Given the description of an element on the screen output the (x, y) to click on. 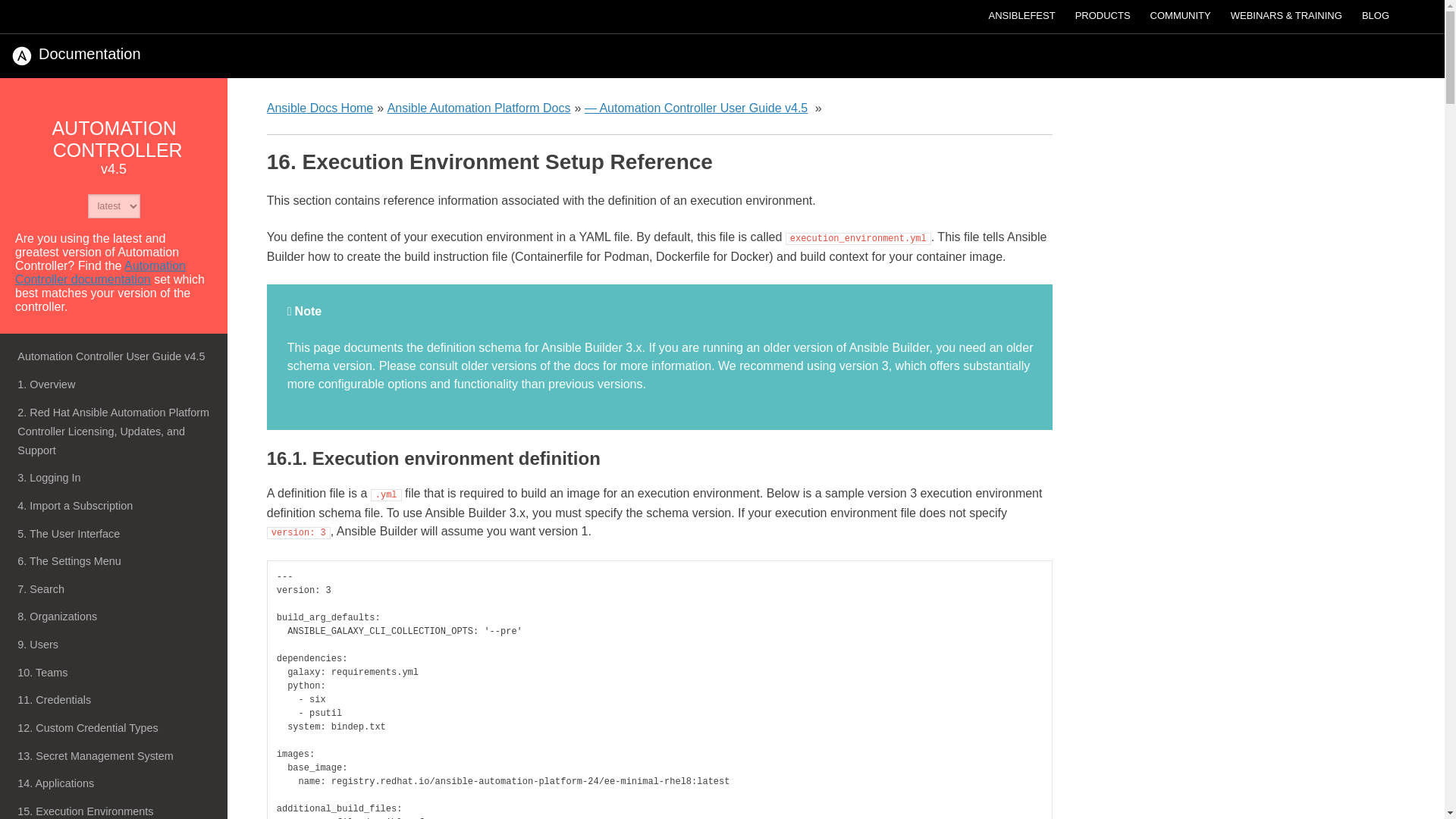
COMMUNITY (1180, 15)
PRODUCTS (1102, 15)
ANSIBLEFEST (1021, 15)
BLOG (1375, 15)
